Given the description of an element on the screen output the (x, y) to click on. 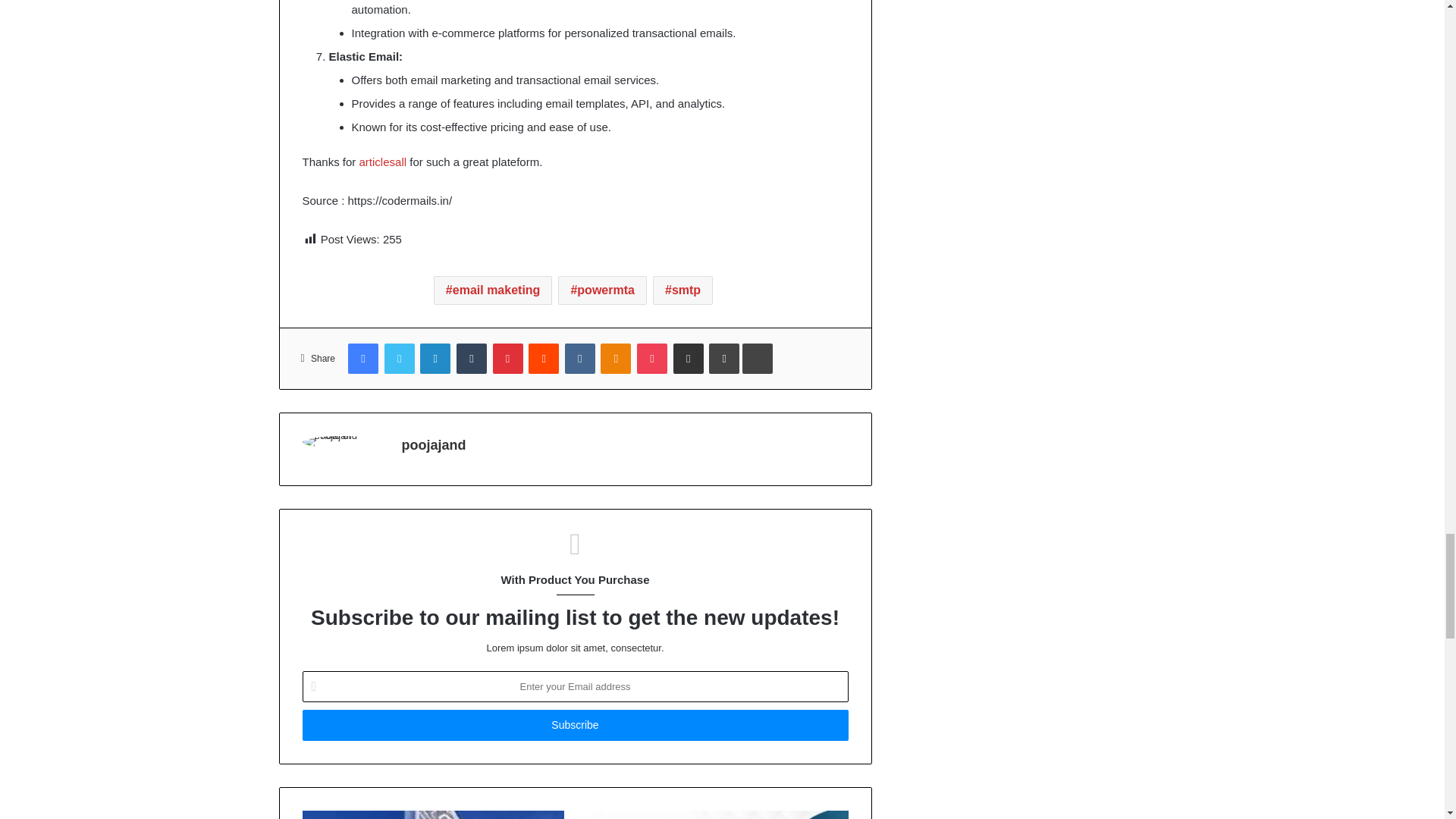
Subscribe (574, 725)
